Given the description of an element on the screen output the (x, y) to click on. 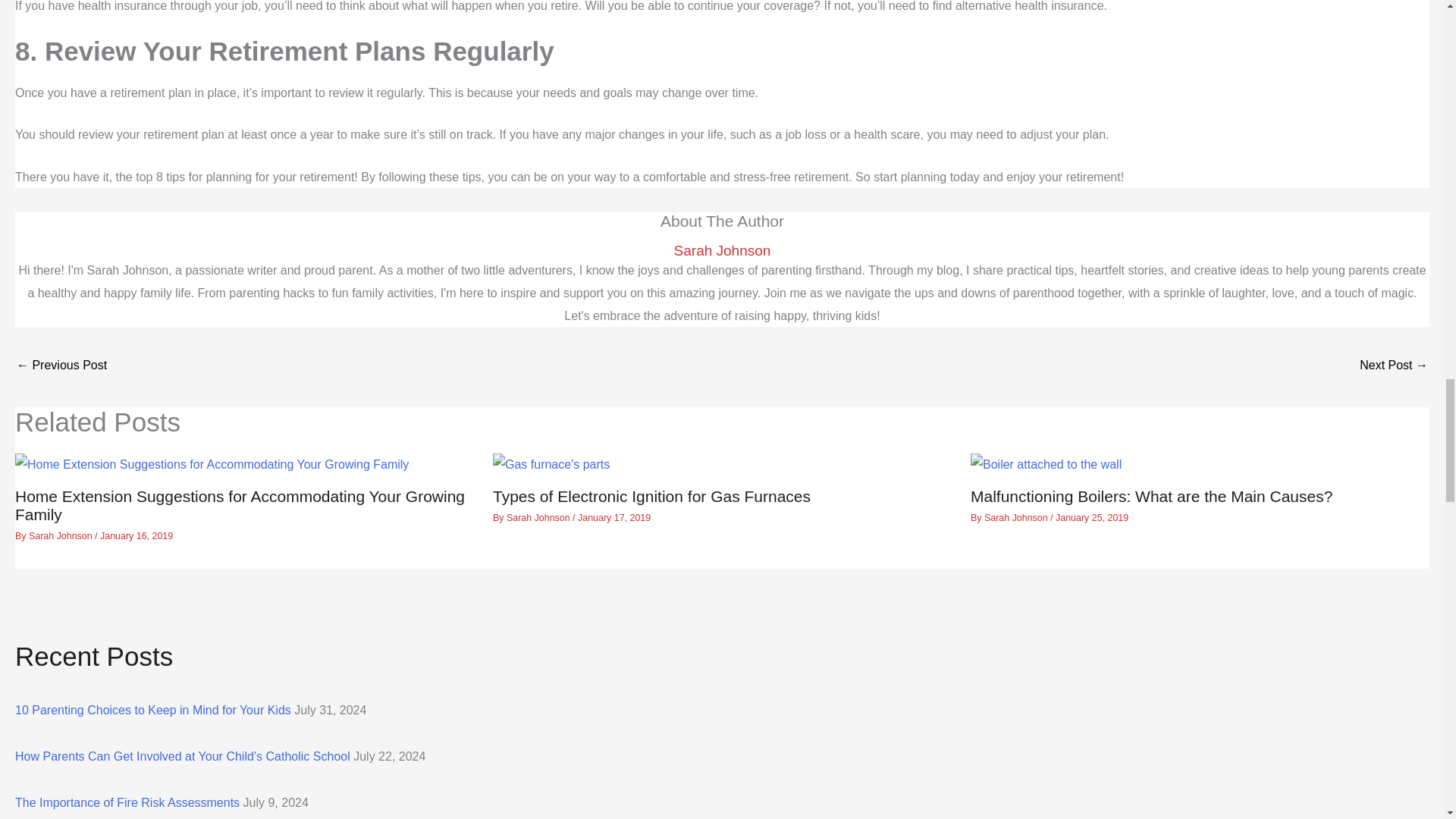
Sarah Johnson (721, 250)
The Importance of Fire Risk Assessments (127, 802)
How to Support Your Bedridden Child (61, 366)
Sarah Johnson (61, 535)
Types of Electronic Ignition for Gas Furnaces (651, 496)
Sarah Johnson (539, 517)
10 Parenting Choices to Keep in Mind for Your Kids (152, 709)
Malfunctioning Boilers: What are the Main Causes? (1151, 496)
Sarah Johnson (1016, 517)
Setting Up a Family Office at Home (1393, 366)
